Given the description of an element on the screen output the (x, y) to click on. 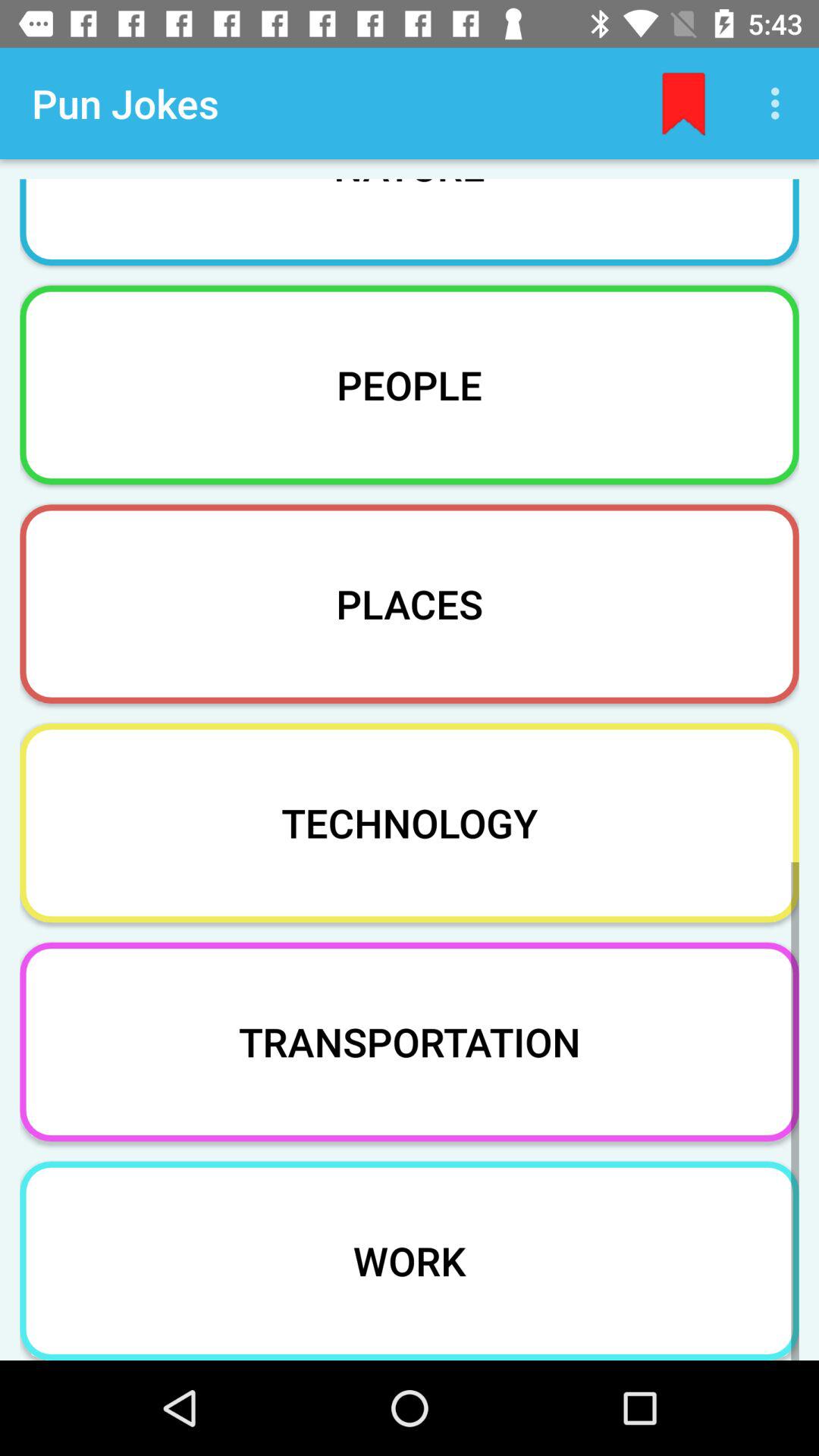
scroll to the work (409, 1260)
